Given the description of an element on the screen output the (x, y) to click on. 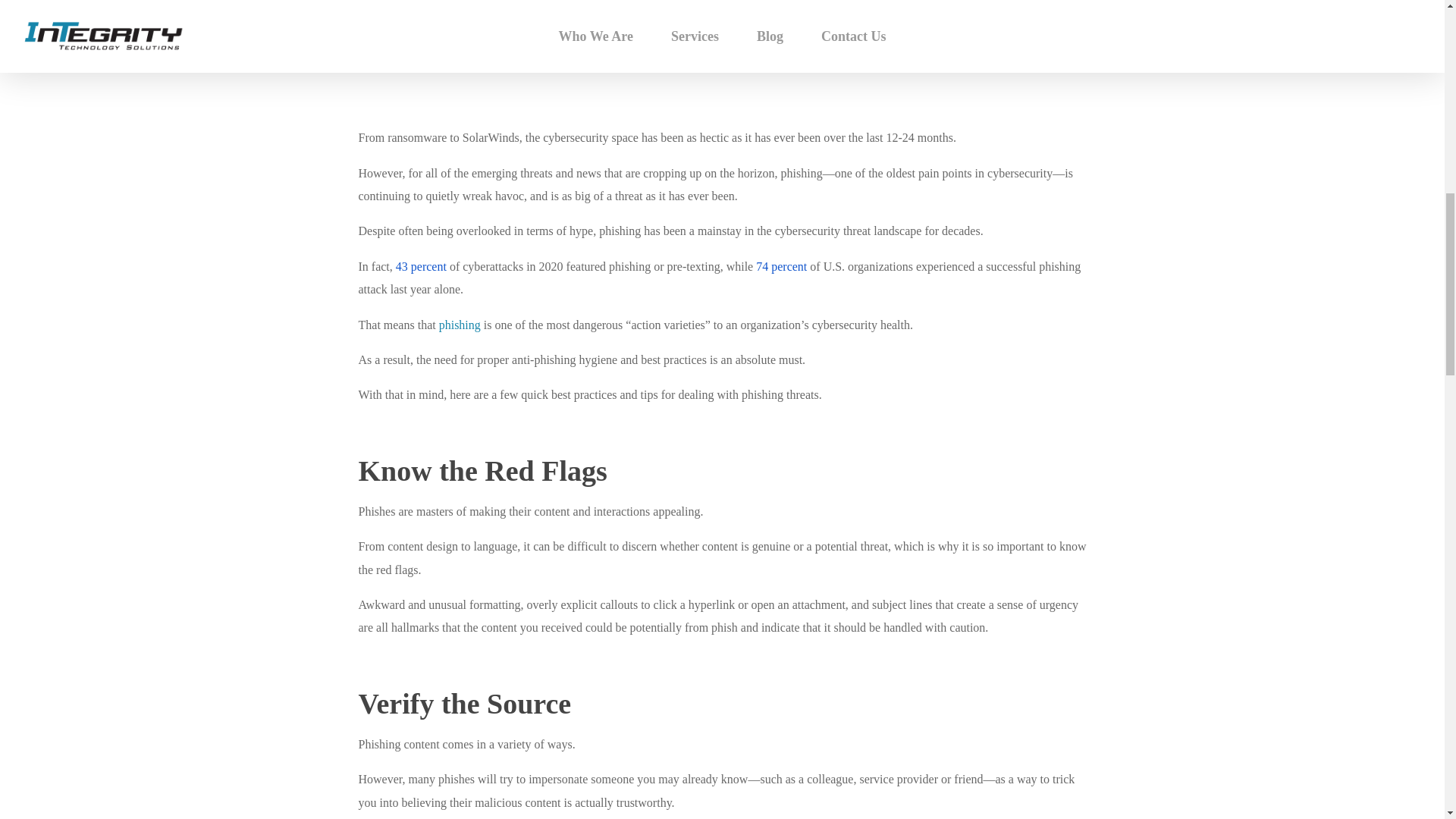
74 percent (780, 266)
phishing (459, 324)
43 percent (421, 266)
